Given the description of an element on the screen output the (x, y) to click on. 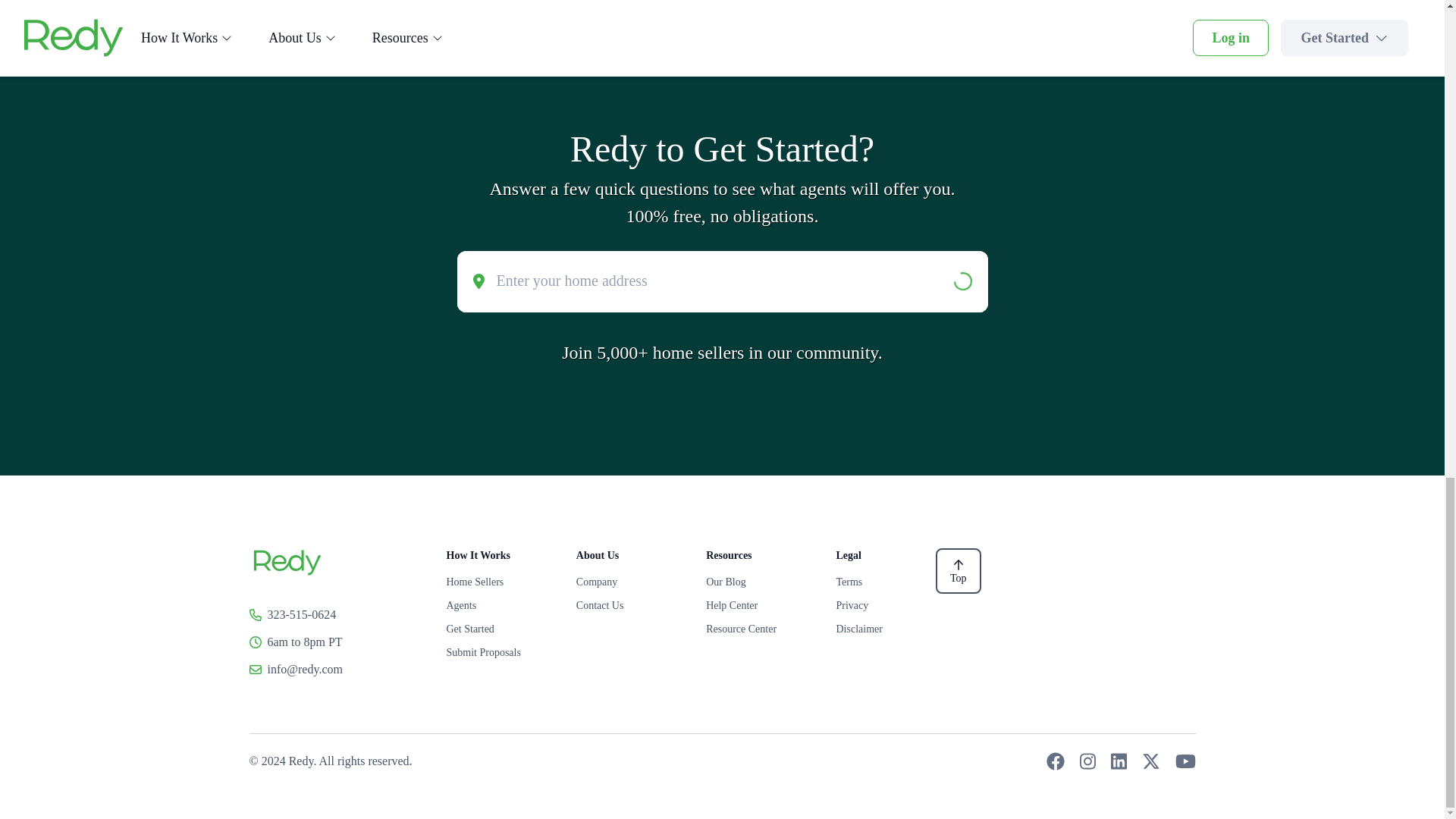
Contact Us (625, 605)
Get Started (494, 628)
323-515-0624 (301, 615)
Company (625, 581)
Home Sellers (494, 581)
Our Blog (755, 581)
Youtube (1184, 761)
Twitter (1150, 761)
Facebook (1055, 761)
Agents (494, 605)
